Given the description of an element on the screen output the (x, y) to click on. 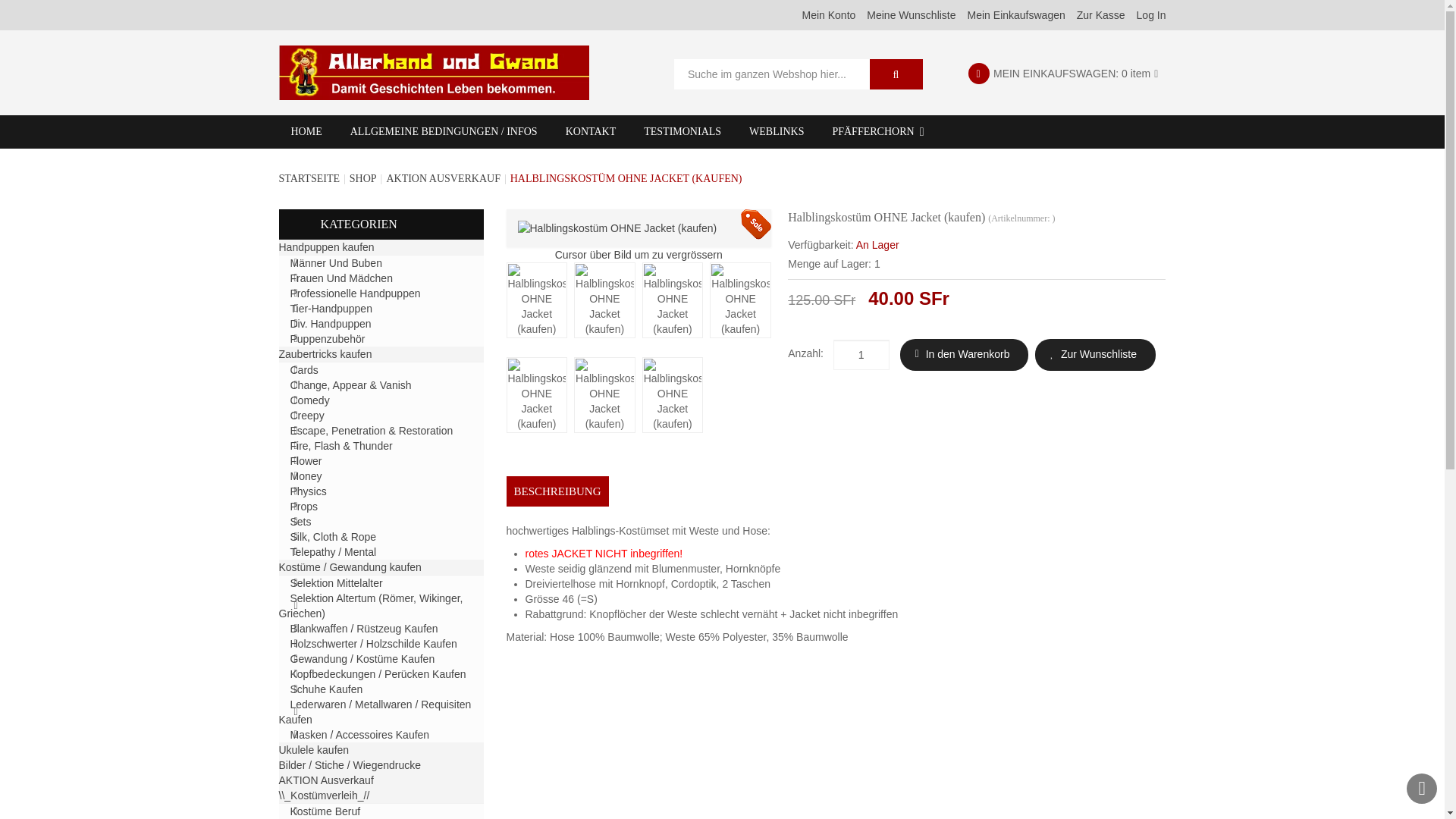
ALLGEMEINE BEDINGUNGEN / INFOS Element type: text (443, 131)
Lederwaren / Metallwaren / Requisiten Kaufen Element type: text (375, 711)
Mein Konto Element type: text (828, 14)
Physics Element type: text (307, 491)
Money Element type: text (305, 476)
KONTAKT Element type: text (590, 131)
Escape, Penetration & Restoration Element type: text (370, 430)
Log In Element type: text (1151, 14)
WEBLINKS Element type: text (776, 131)
Professionelle Handpuppen Element type: text (354, 293)
Schuhe Kaufen Element type: text (325, 689)
Selektion Mittelalter Element type: text (335, 583)
Nach oben Element type: hover (1421, 788)
Tier-Handpuppen Element type: text (330, 308)
Cards Element type: text (303, 370)
BESCHREIBUNG Element type: text (557, 491)
Masken / Accessoires Kaufen Element type: text (359, 734)
Div. Handpuppen Element type: text (329, 323)
Sets Element type: text (299, 521)
Zaubertricks kaufen Element type: text (325, 354)
AKTION Ausverkauf Element type: text (326, 780)
Creepy Element type: text (306, 415)
Silk, Cloth & Rope Element type: text (332, 536)
Fire, Flash & Thunder Element type: text (340, 445)
AKTION AUSVERKAUF Element type: text (442, 178)
Telepathy / Mental Element type: text (332, 552)
Comedy Element type: text (309, 400)
HOME Element type: text (306, 131)
Ukulele kaufen Element type: text (314, 749)
Change, Appear & Vanish Element type: text (350, 385)
TESTIMONIALS Element type: text (682, 131)
Zur Wunschliste Element type: text (1098, 354)
SHOP Element type: text (362, 178)
Mein Einkaufswagen Element type: text (1016, 14)
In den Warenkorb Element type: text (967, 354)
Bilder / Stiche / Wiegendrucke Element type: text (350, 765)
STARTSEITE Element type: text (309, 178)
Meine Wunschliste Element type: text (910, 14)
Props Element type: text (303, 506)
Handpuppen kaufen Element type: text (326, 247)
Flower Element type: text (305, 461)
Holzschwerter / Holzschilde Kaufen Element type: text (372, 643)
Zur Kasse Element type: text (1100, 14)
